Given the description of an element on the screen output the (x, y) to click on. 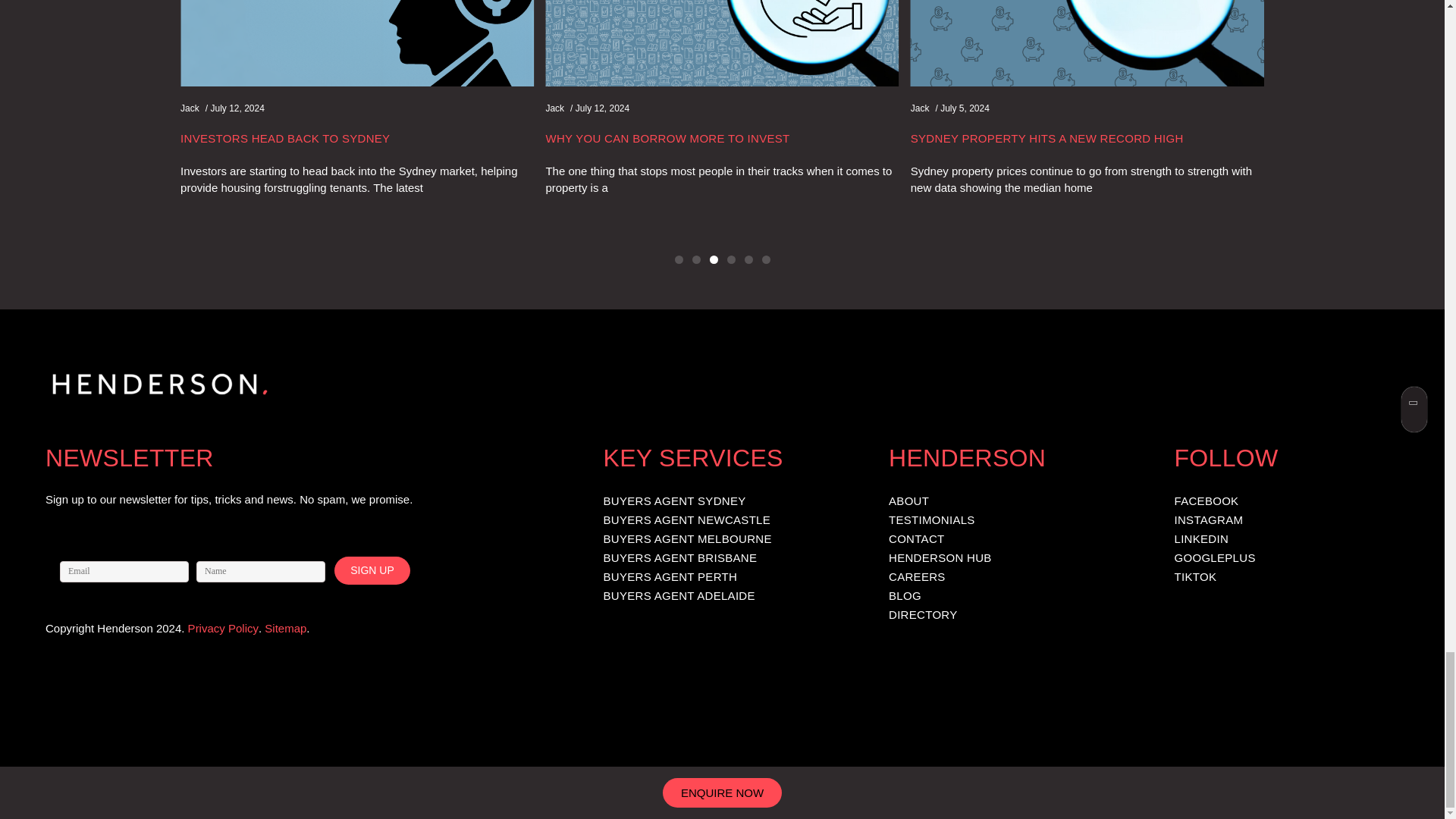
SIGN UP (372, 570)
